Given the description of an element on the screen output the (x, y) to click on. 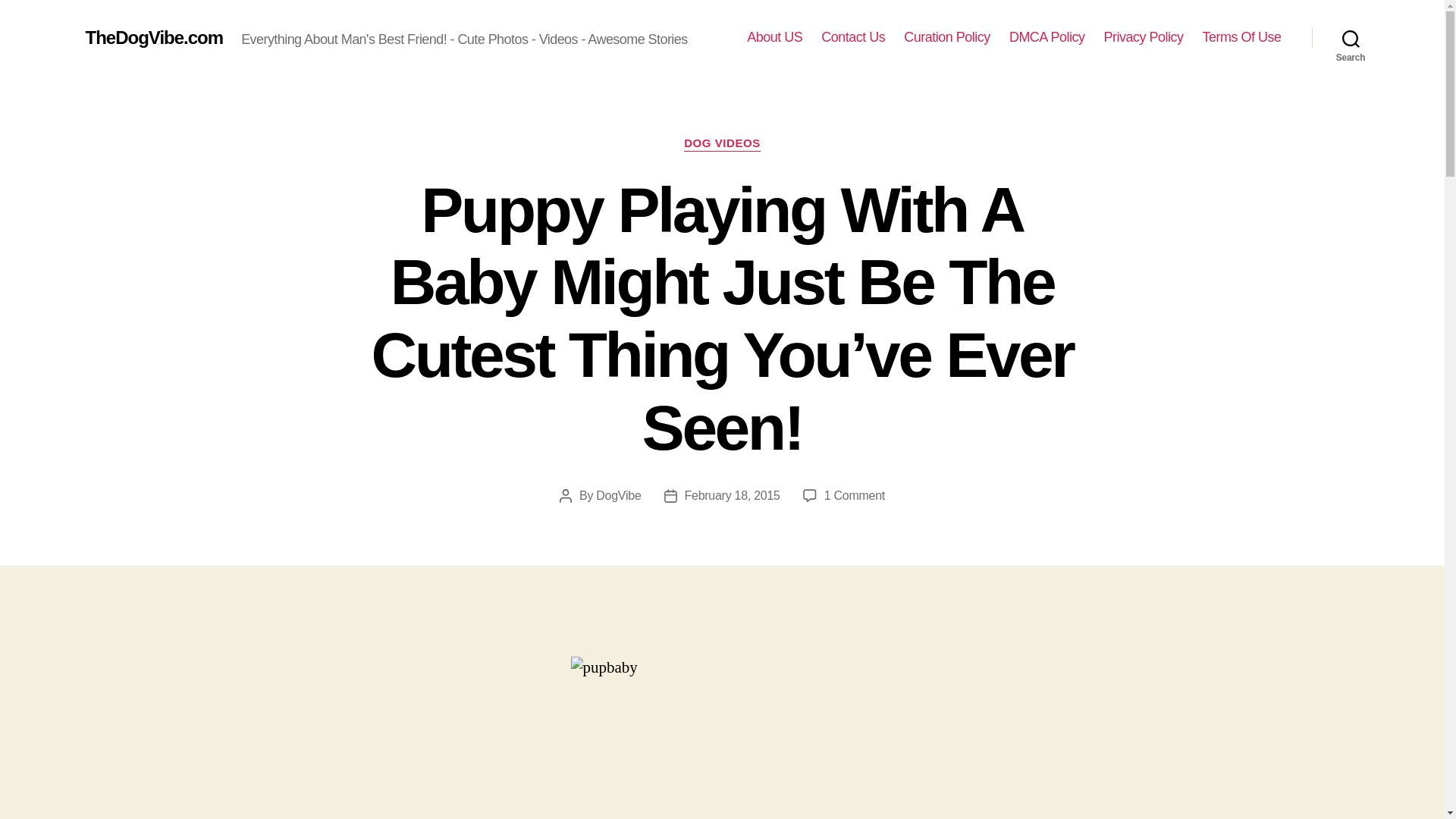
DogVibe (617, 495)
Contact Us (853, 37)
Privacy Policy (1142, 37)
Curation Policy (947, 37)
About US (774, 37)
DOG VIDEOS (722, 143)
Terms Of Use (1241, 37)
Search (1350, 37)
DMCA Policy (1046, 37)
February 18, 2015 (732, 495)
TheDogVibe.com (153, 37)
